Given the description of an element on the screen output the (x, y) to click on. 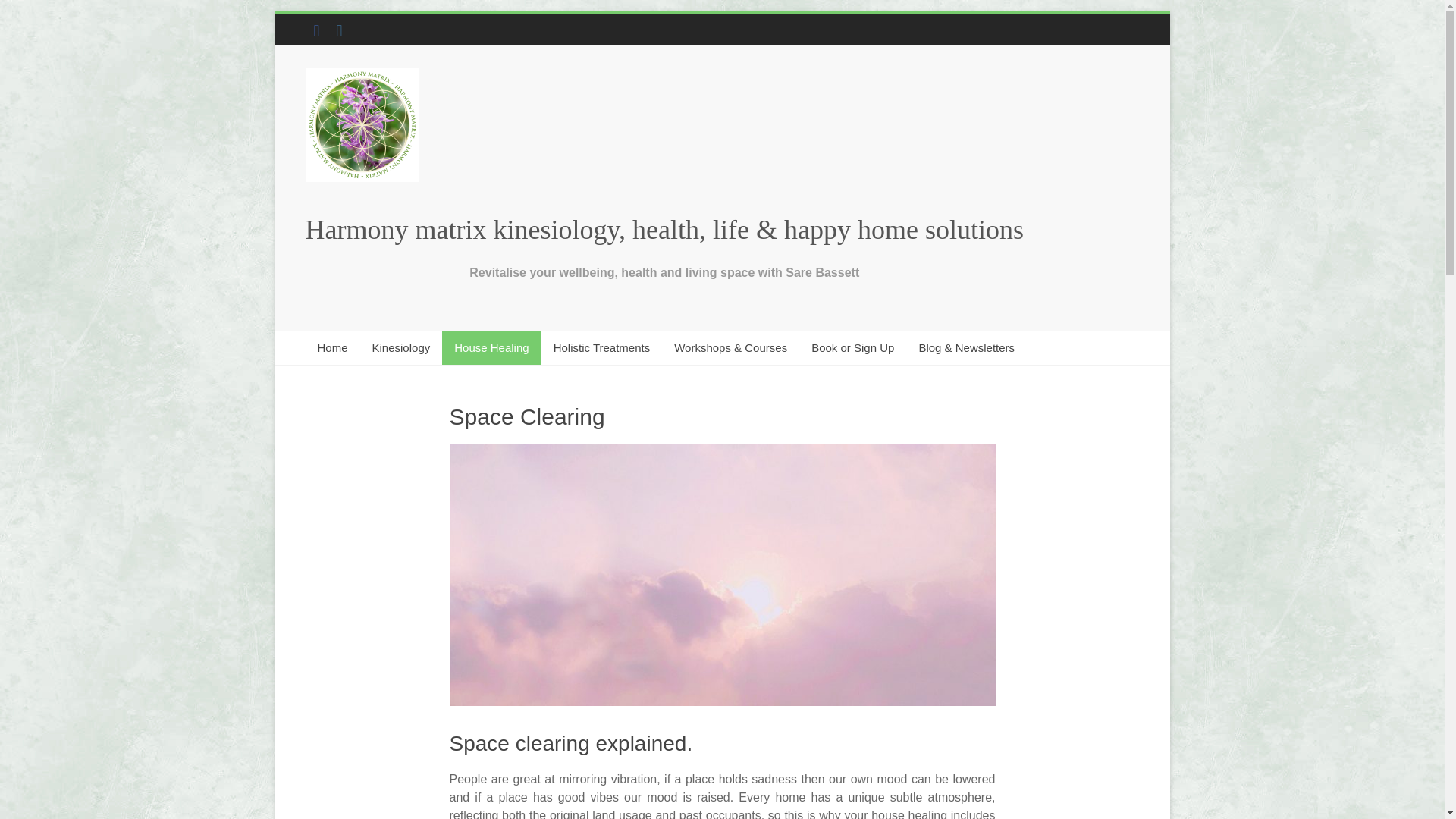
Home (331, 347)
House Healing (491, 347)
Holistic Treatments (601, 347)
Book or Sign Up (852, 347)
Kinesiology (400, 347)
